Given the description of an element on the screen output the (x, y) to click on. 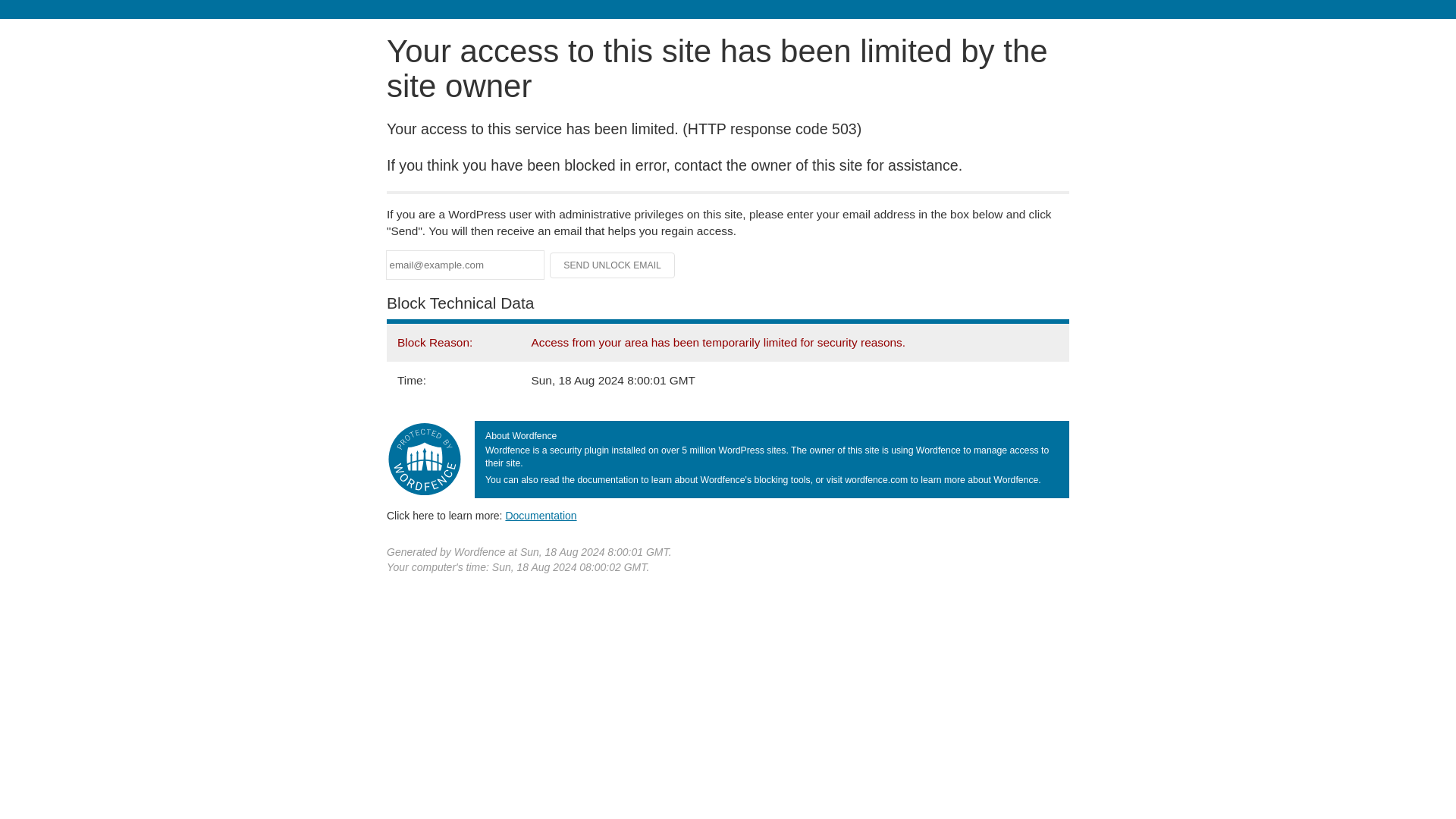
Send Unlock Email (612, 265)
Documentation (540, 515)
Send Unlock Email (612, 265)
